Given the description of an element on the screen output the (x, y) to click on. 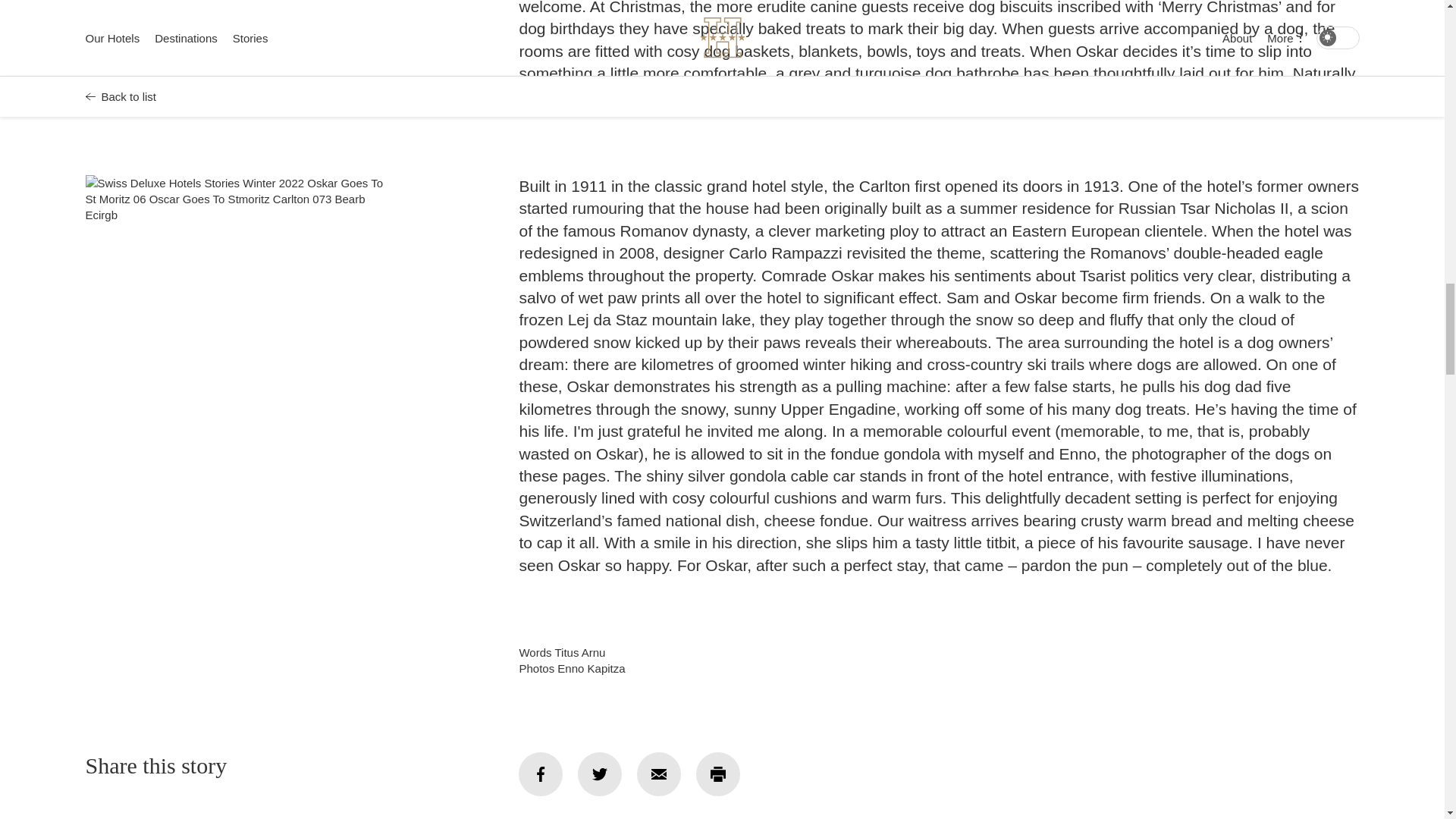
Print (717, 774)
Email (659, 774)
Twitter (599, 774)
Facebook (540, 774)
